Given the description of an element on the screen output the (x, y) to click on. 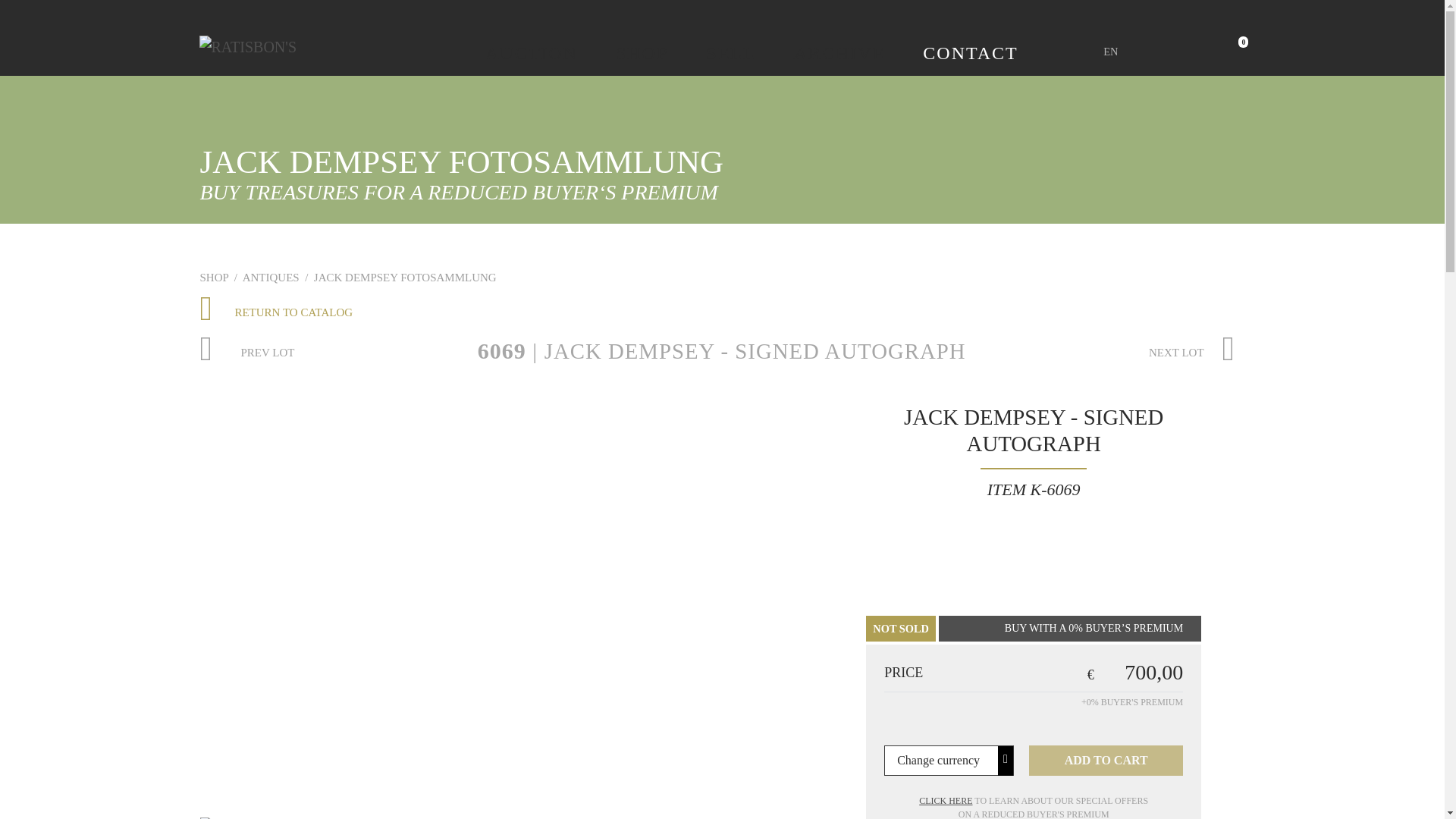
SELL (730, 53)
AUCTION (530, 53)
SHOP (641, 53)
CONTACT (970, 53)
ARCHIVE (839, 53)
